Given the description of an element on the screen output the (x, y) to click on. 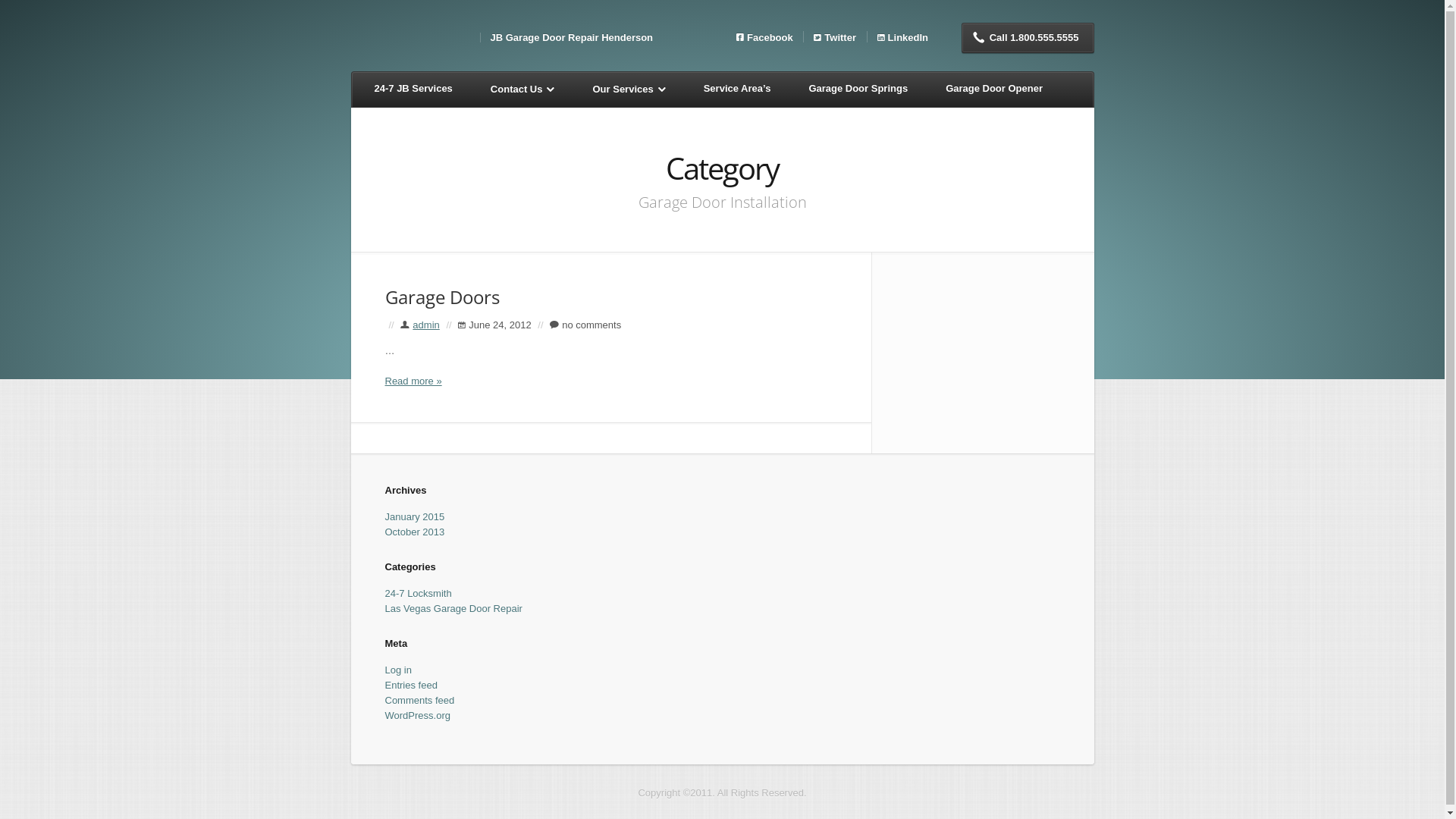
Call 1.800.555.5555 Element type: text (1027, 37)
Las Vegas Garage Door Repair Element type: text (453, 608)
October 2013 Element type: text (415, 531)
Log in Element type: text (398, 669)
Garage Doors Element type: text (442, 296)
admin Element type: text (425, 324)
Garage Door Springs Element type: text (857, 89)
24-7 Locksmith Element type: text (418, 593)
Twitter Element type: text (829, 36)
Entries feed Element type: text (411, 684)
January 2015 Element type: text (415, 516)
Contact Us Element type: text (522, 89)
LinkedIn Element type: text (897, 36)
Garage Door Opener Element type: text (993, 89)
Facebook Element type: text (759, 36)
Comments feed Element type: text (420, 700)
Our Services Element type: text (628, 89)
WordPress.org Element type: text (417, 715)
24-7 JB Services Element type: text (413, 89)
